Given the description of an element on the screen output the (x, y) to click on. 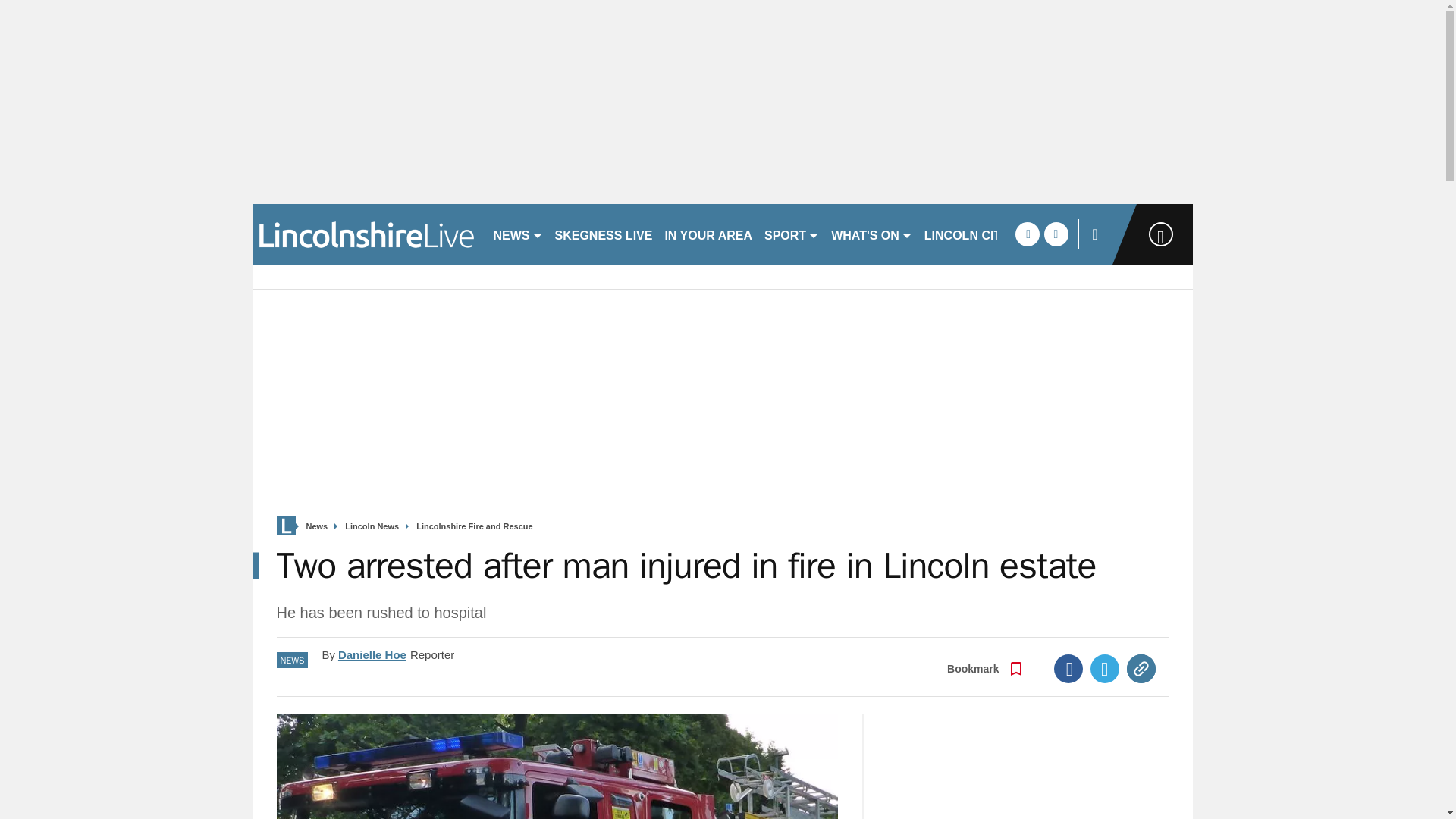
IN YOUR AREA (708, 233)
Twitter (1104, 668)
facebook (1026, 233)
Facebook (1068, 668)
SKEGNESS LIVE (603, 233)
WHAT'S ON (871, 233)
twitter (1055, 233)
NEWS (517, 233)
SPORT (791, 233)
LINCOLN CITY FC (975, 233)
lincolnshirelive (365, 233)
